Given the description of an element on the screen output the (x, y) to click on. 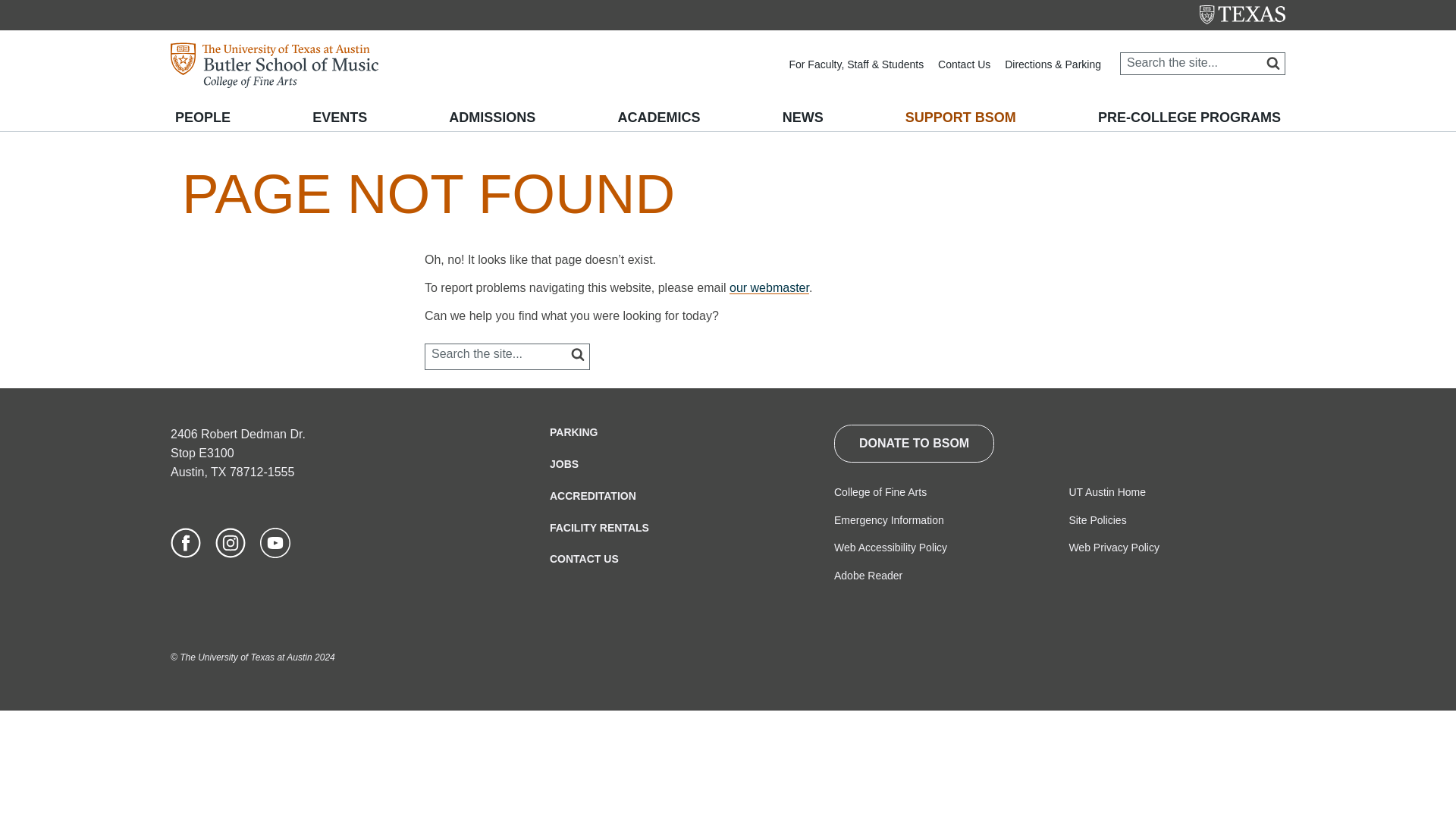
Contact us (964, 64)
ADMISSIONS (491, 117)
Search (1260, 64)
Events (338, 117)
PEOPLE (203, 117)
Academics (658, 117)
Contact Us (964, 64)
Enter the terms you wish to search for. (1203, 62)
Pre-college programs (1189, 117)
